Given the description of an element on the screen output the (x, y) to click on. 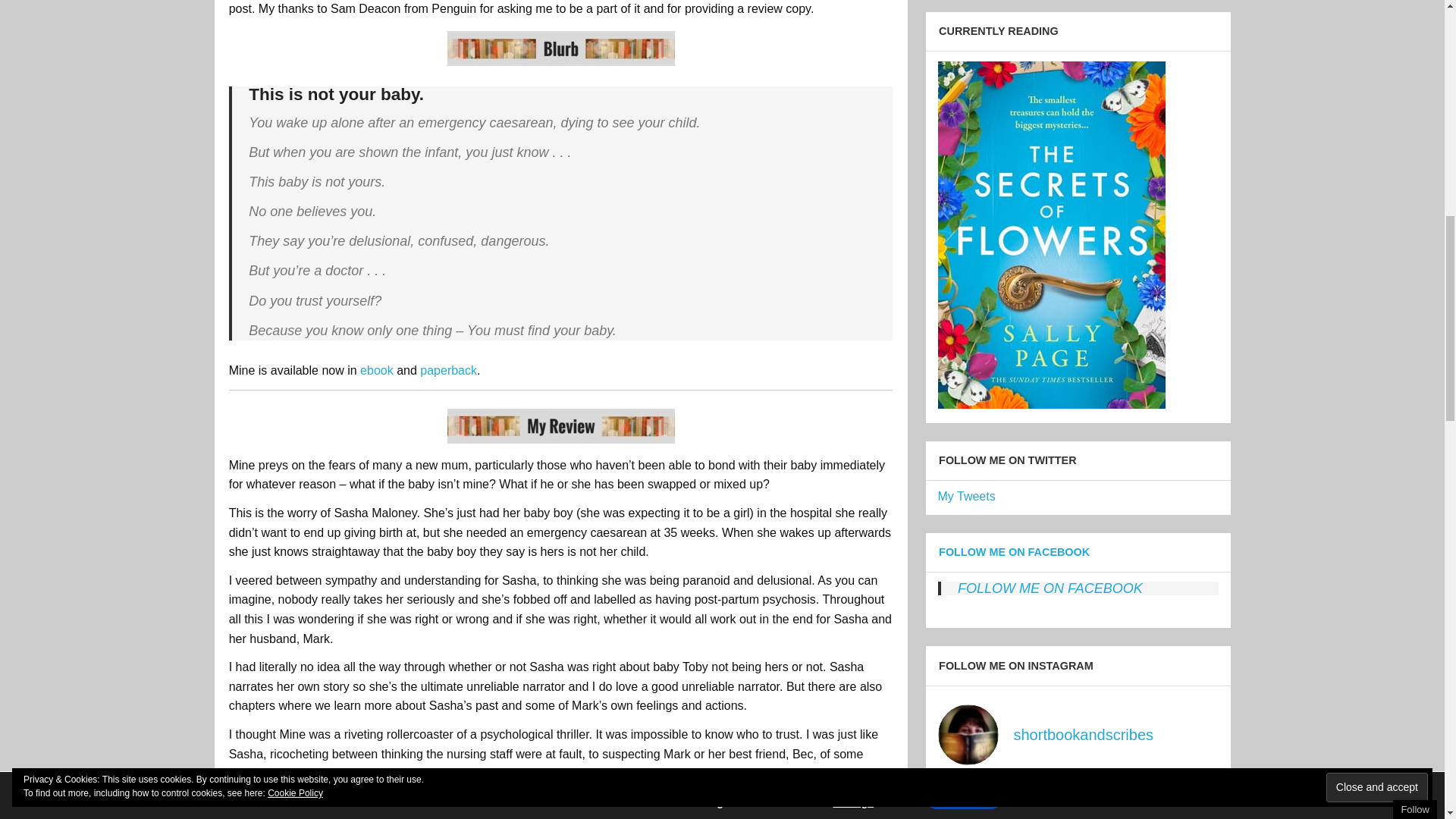
ebook (376, 369)
Sign up! (1350, 87)
paperback (448, 369)
